Given the description of an element on the screen output the (x, y) to click on. 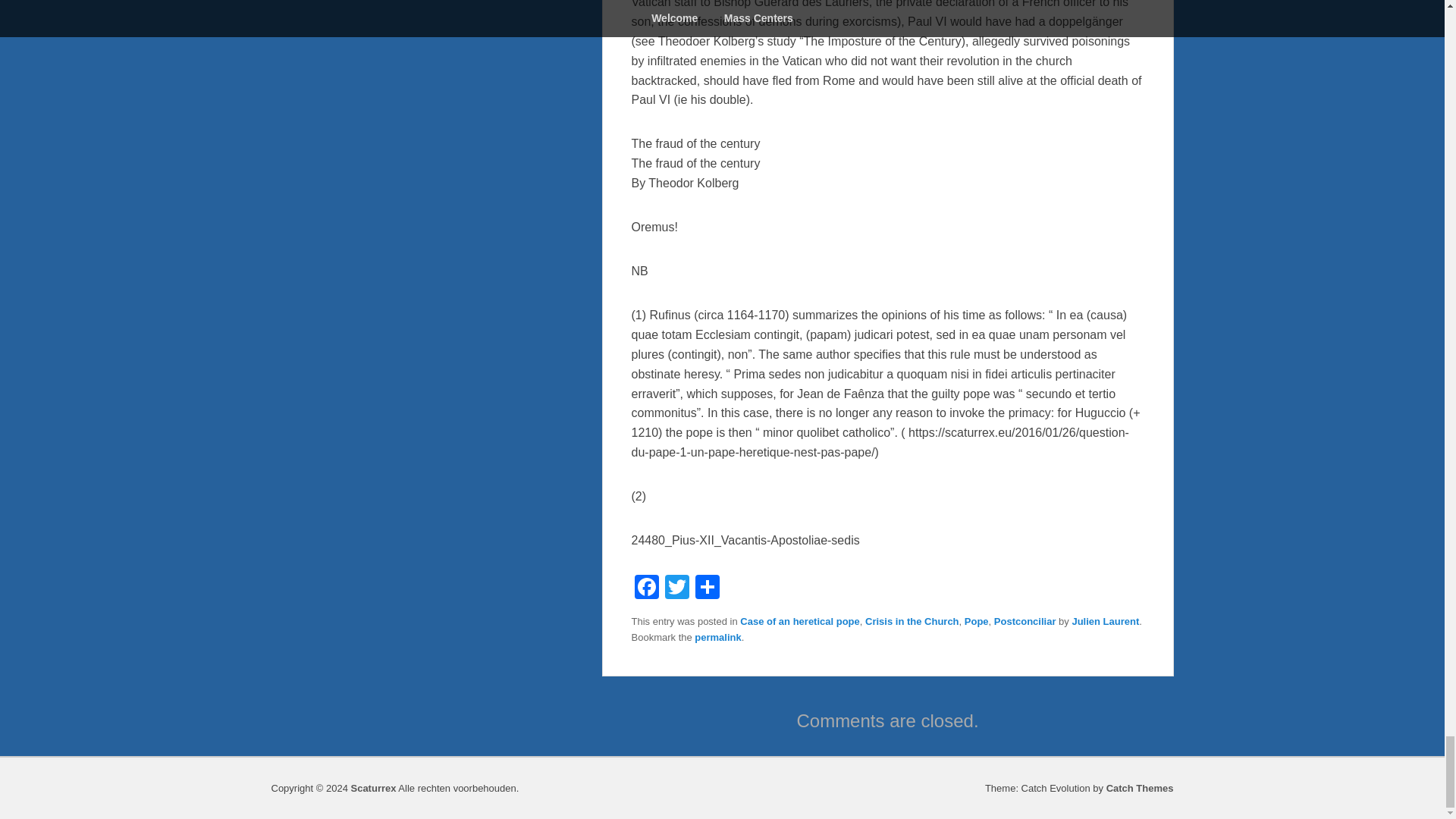
Scaturrex (373, 787)
Catch Themes (1139, 787)
Twitter (676, 587)
Facebook (645, 587)
